Given the description of an element on the screen output the (x, y) to click on. 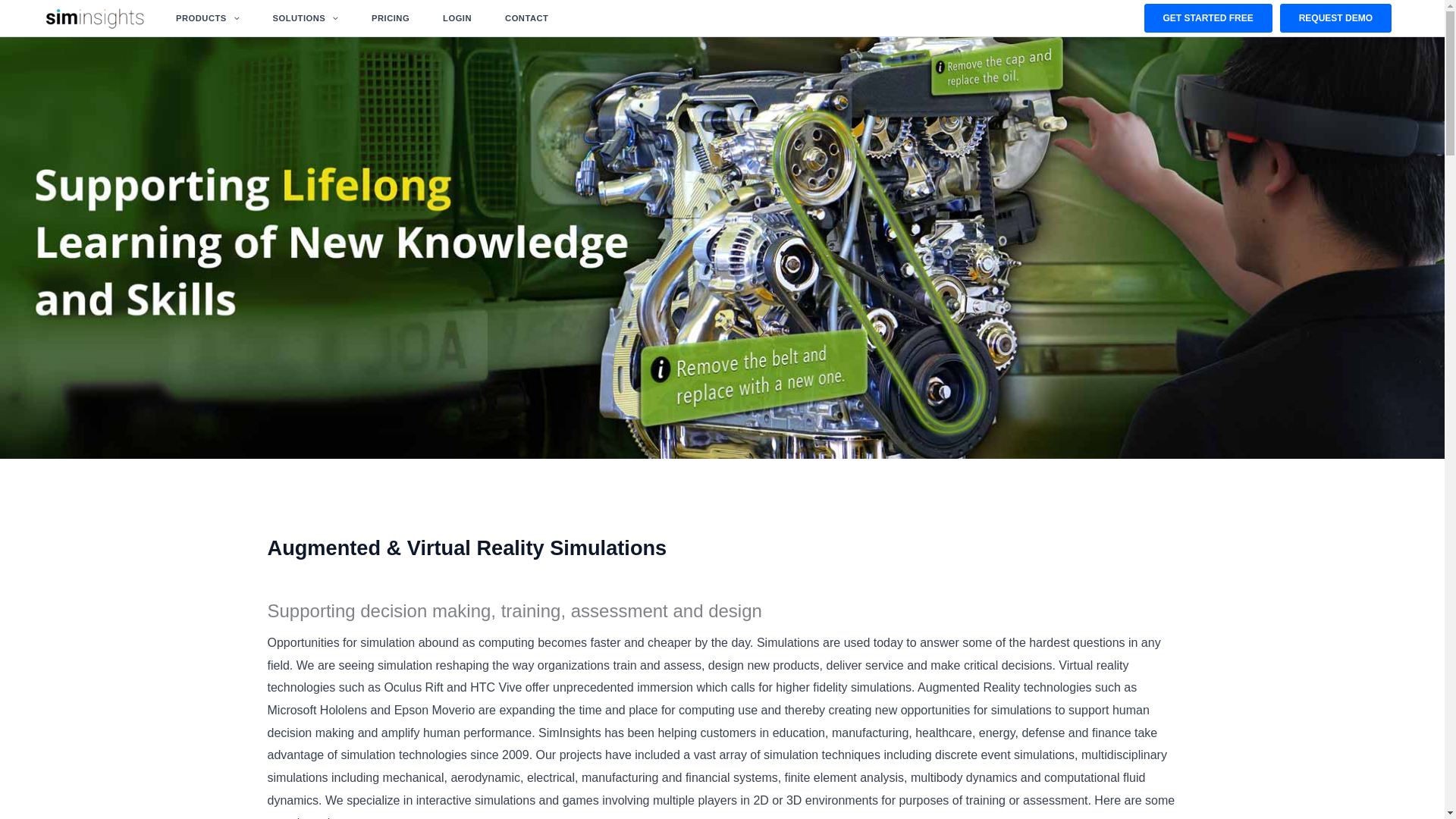
GET STARTED FREE (1208, 18)
SOLUTIONS (305, 18)
CONTACT (525, 18)
LOGIN (456, 18)
PRODUCTS (207, 18)
PRICING (390, 18)
REQUEST DEMO (1335, 18)
